Given the description of an element on the screen output the (x, y) to click on. 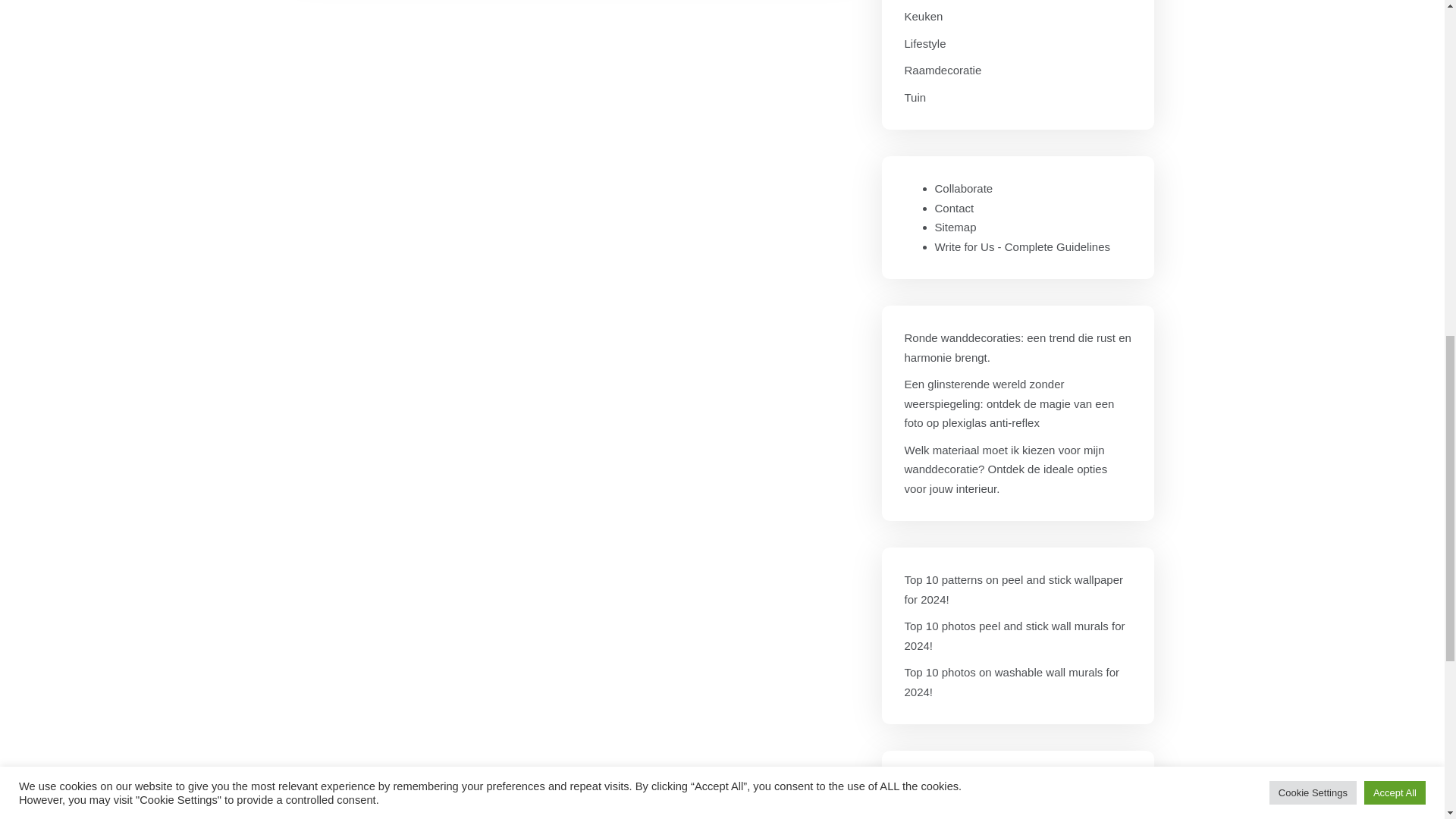
Lifestyle (924, 44)
Keuken (923, 16)
